Given the description of an element on the screen output the (x, y) to click on. 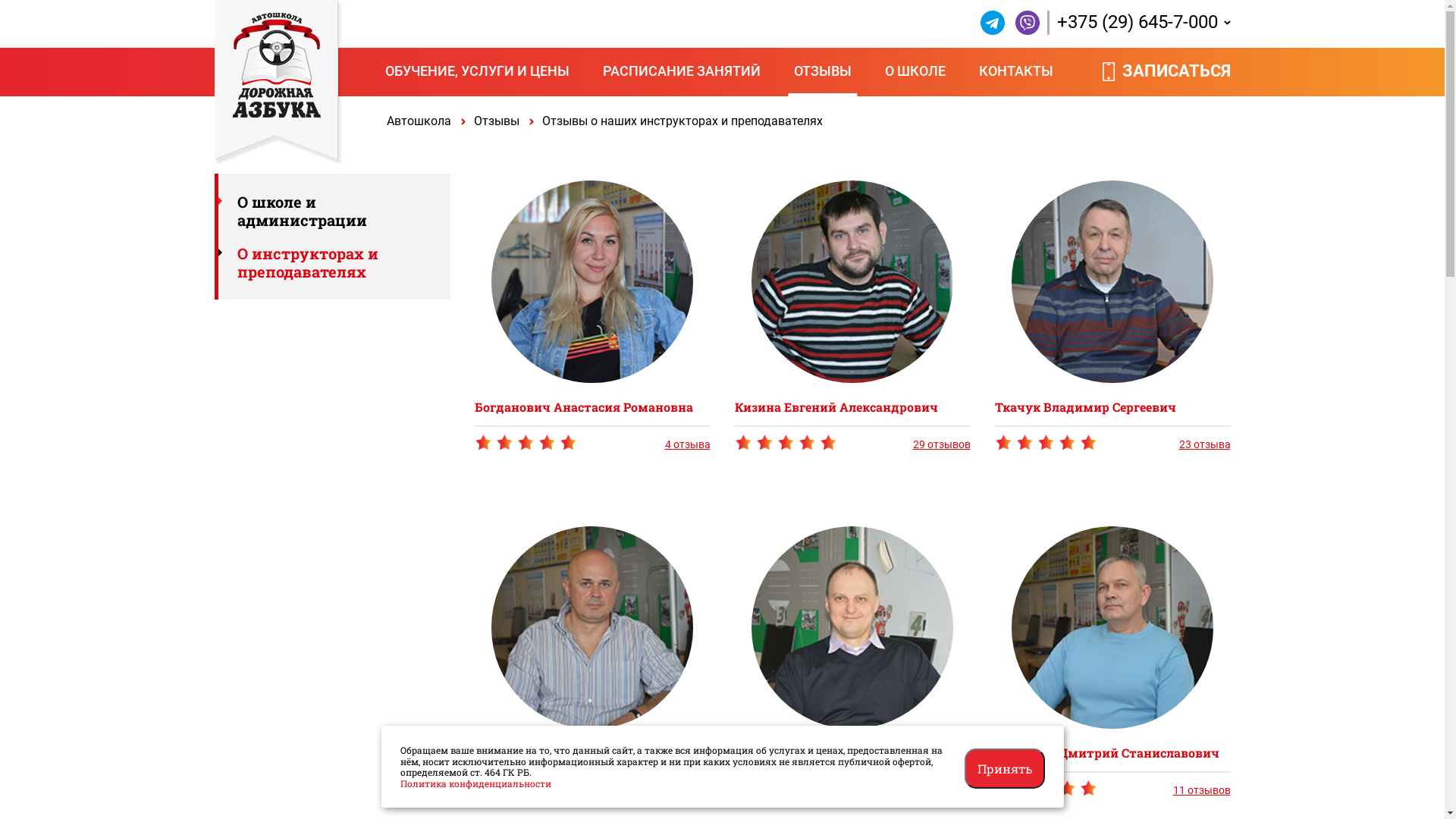
gorgeous Element type: hover (483, 442)
gorgeous Element type: hover (1046, 789)
gorgeous Element type: hover (1003, 442)
gorgeous Element type: hover (828, 788)
gorgeous Element type: hover (547, 788)
gorgeous Element type: hover (764, 442)
gorgeous Element type: hover (764, 788)
gorgeous Element type: hover (806, 442)
gorgeous Element type: hover (743, 442)
gorgeous Element type: hover (504, 788)
gorgeous Element type: hover (743, 788)
gorgeous Element type: hover (1088, 788)
gorgeous Element type: hover (568, 788)
gorgeous Element type: hover (785, 443)
gorgeous Element type: hover (483, 788)
gorgeous Element type: hover (1025, 788)
gorgeous Element type: hover (785, 788)
gorgeous Element type: hover (806, 788)
+375 (29) 645-7-000 Element type: text (1137, 22)
gorgeous Element type: hover (1046, 442)
gorgeous Element type: hover (1088, 442)
gorgeous Element type: hover (1046, 443)
gorgeous Element type: hover (568, 442)
gorgeous Element type: hover (1067, 442)
gorgeous Element type: hover (1025, 442)
gorgeous Element type: hover (504, 442)
gorgeous Element type: hover (1003, 788)
gorgeous Element type: hover (785, 789)
gorgeous Element type: hover (525, 443)
gorgeous Element type: hover (1046, 788)
gorgeous Element type: hover (547, 442)
gorgeous Element type: hover (1067, 788)
gorgeous Element type: hover (526, 788)
gorgeous Element type: hover (828, 442)
gorgeous Element type: hover (785, 442)
gorgeous Element type: hover (525, 789)
gorgeous Element type: hover (526, 442)
